Given the description of an element on the screen output the (x, y) to click on. 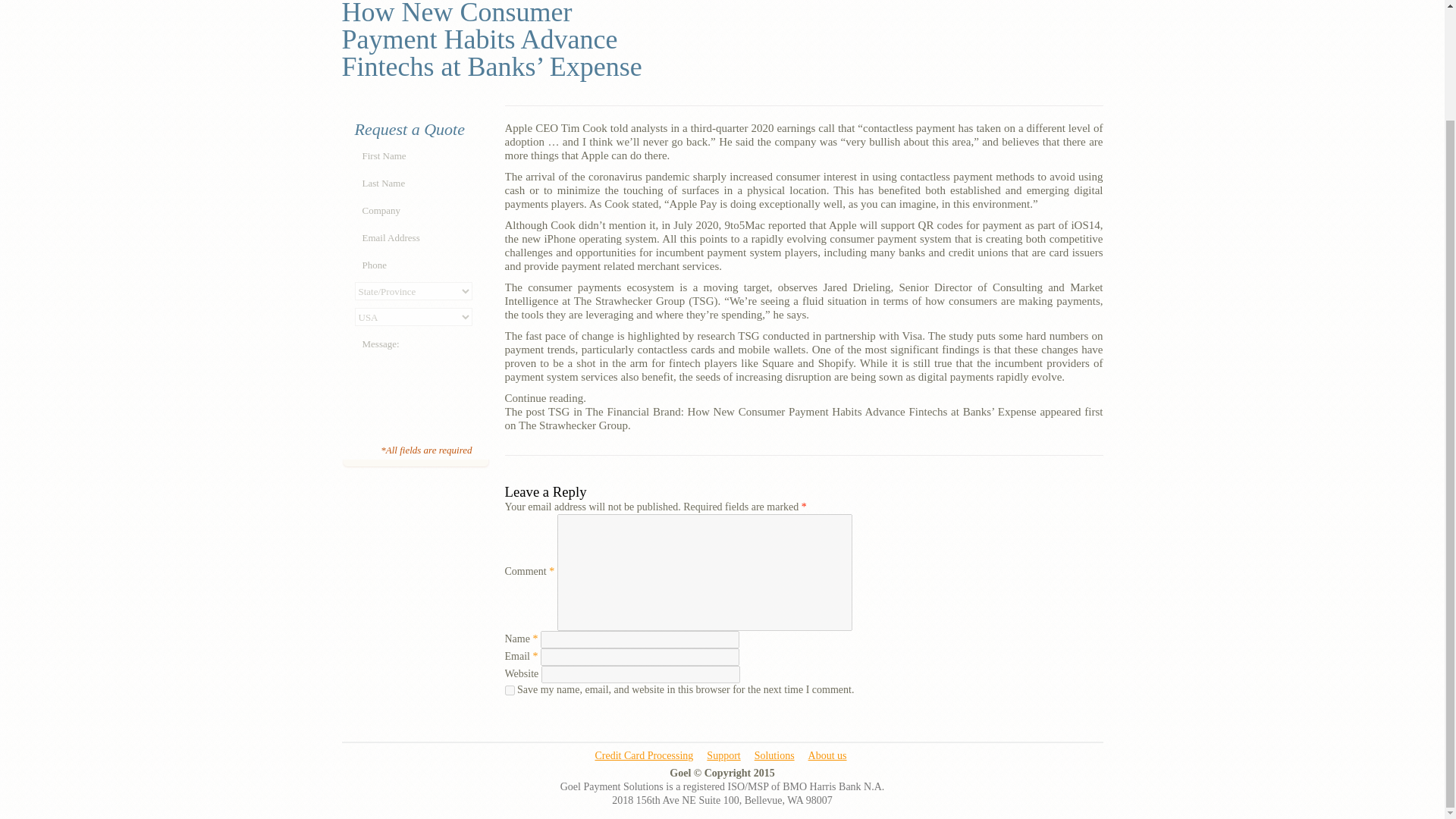
About us (827, 755)
Support (722, 755)
Post Comment (619, 710)
yes (510, 690)
Solutions (774, 755)
Submit (414, 428)
Post Comment (619, 710)
Goel, Credit Card Processing Service, Kent, WA (1045, 773)
Submit (414, 428)
Credit Card Processing (643, 755)
